Given the description of an element on the screen output the (x, y) to click on. 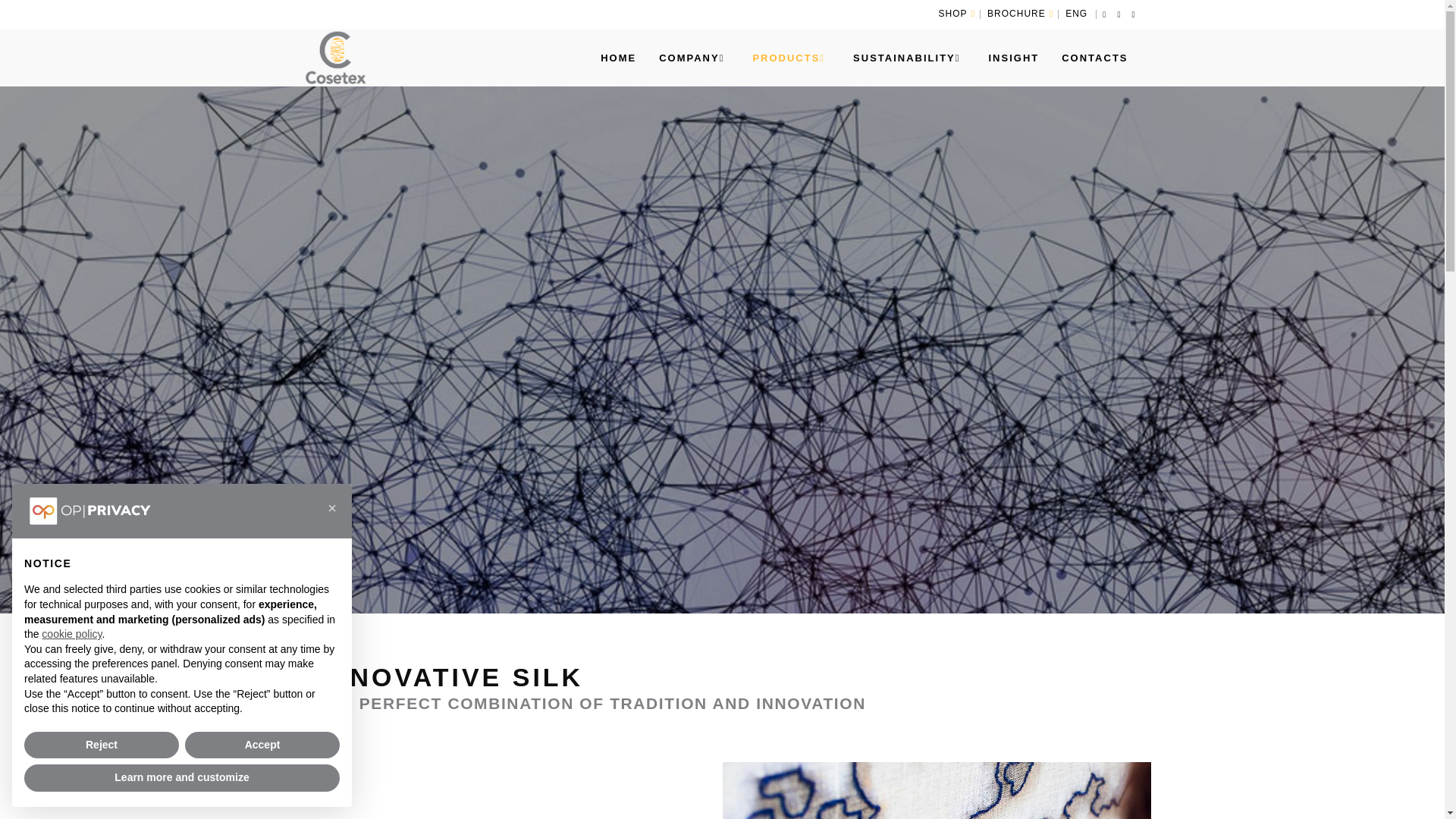
INSIGHT (1012, 57)
HOME (618, 57)
SHOP (957, 13)
ENG (1077, 13)
ENG (1077, 13)
PRODUCTS (791, 57)
BROCHURE (1019, 13)
CONTACTS (1093, 57)
COMPANY (694, 57)
SUSTAINABILITY (908, 57)
